Given the description of an element on the screen output the (x, y) to click on. 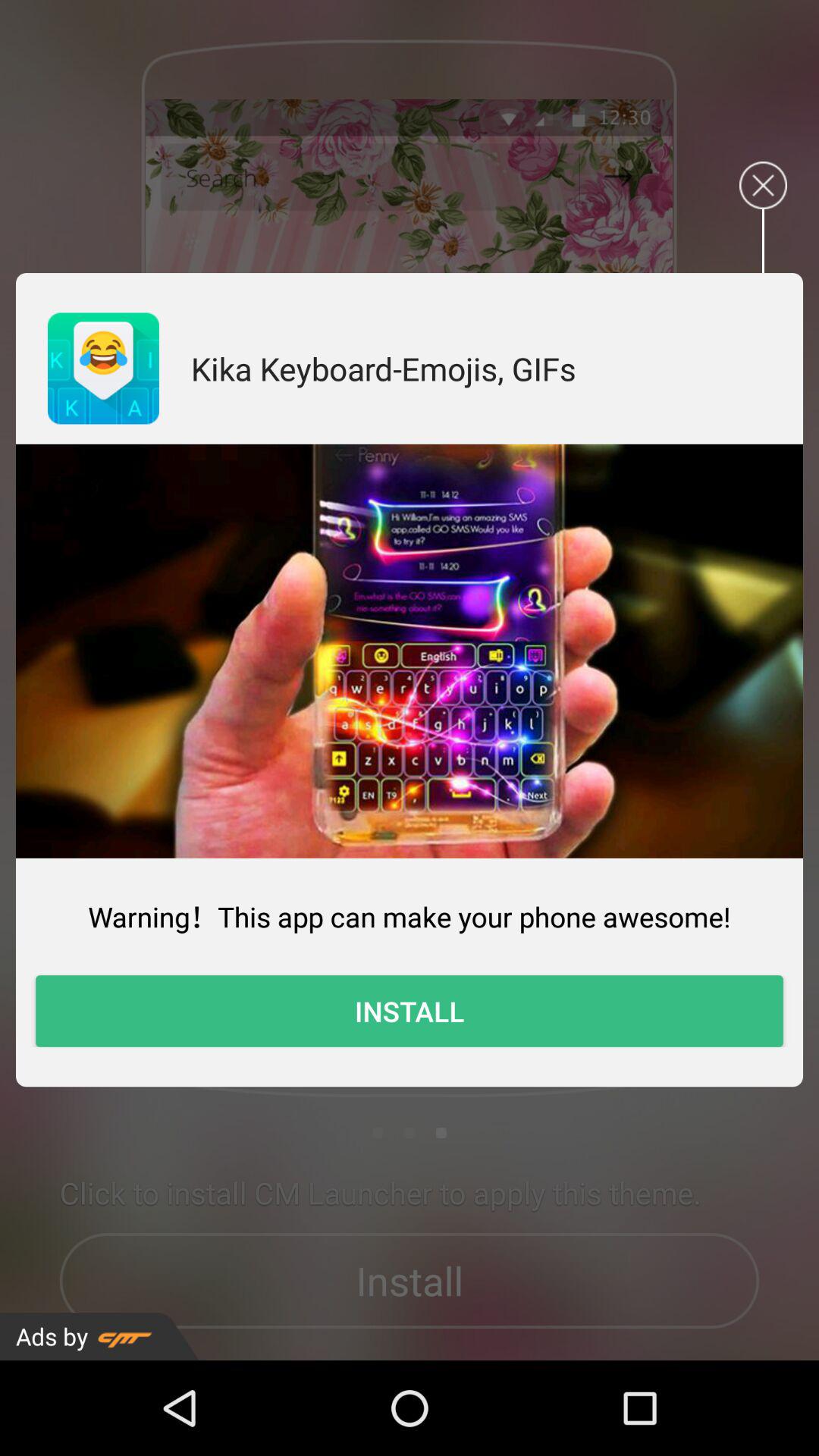
jump to kika keyboard emojis (383, 368)
